Given the description of an element on the screen output the (x, y) to click on. 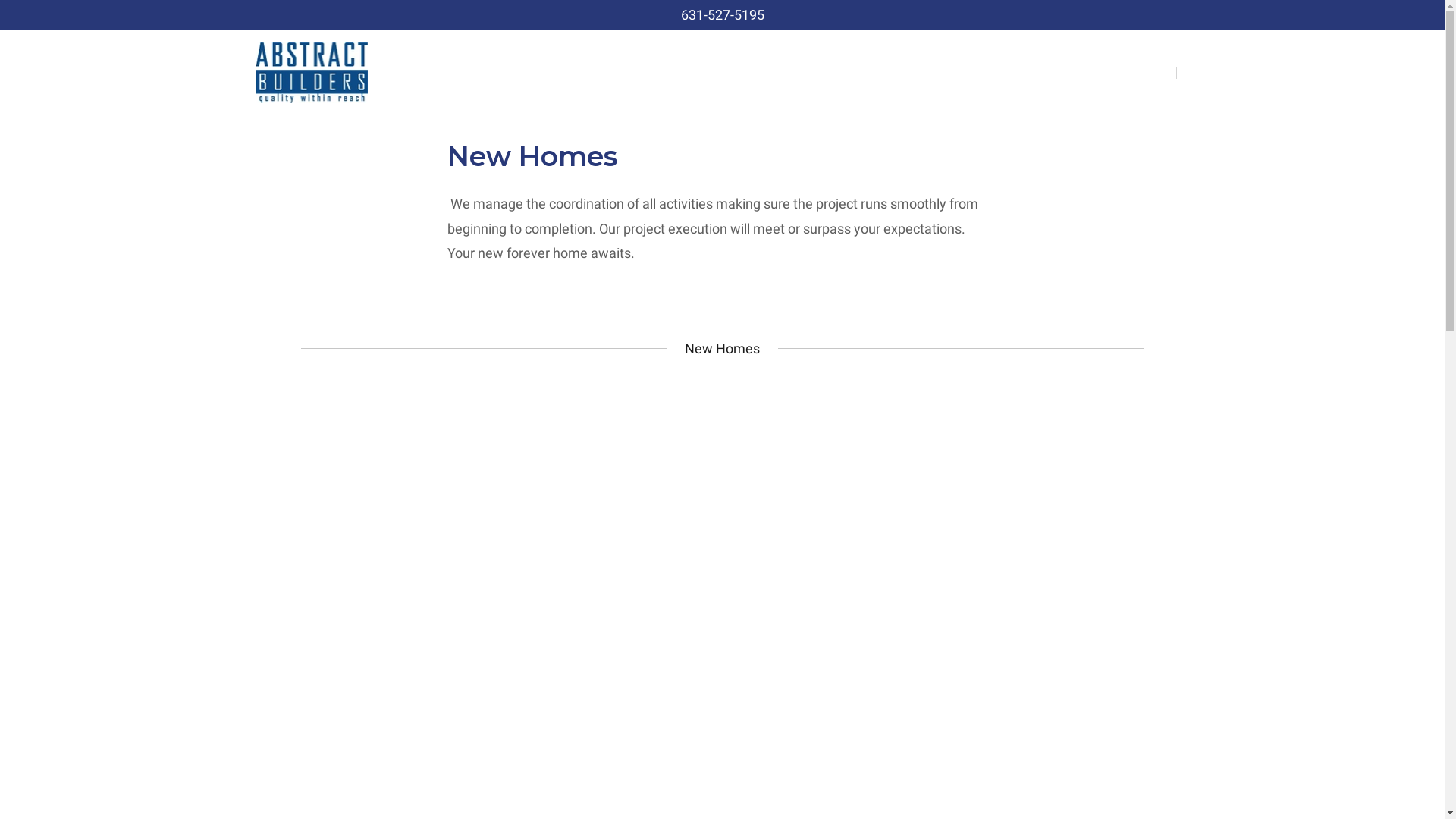
631-527-5195 Element type: text (722, 14)
